Given the description of an element on the screen output the (x, y) to click on. 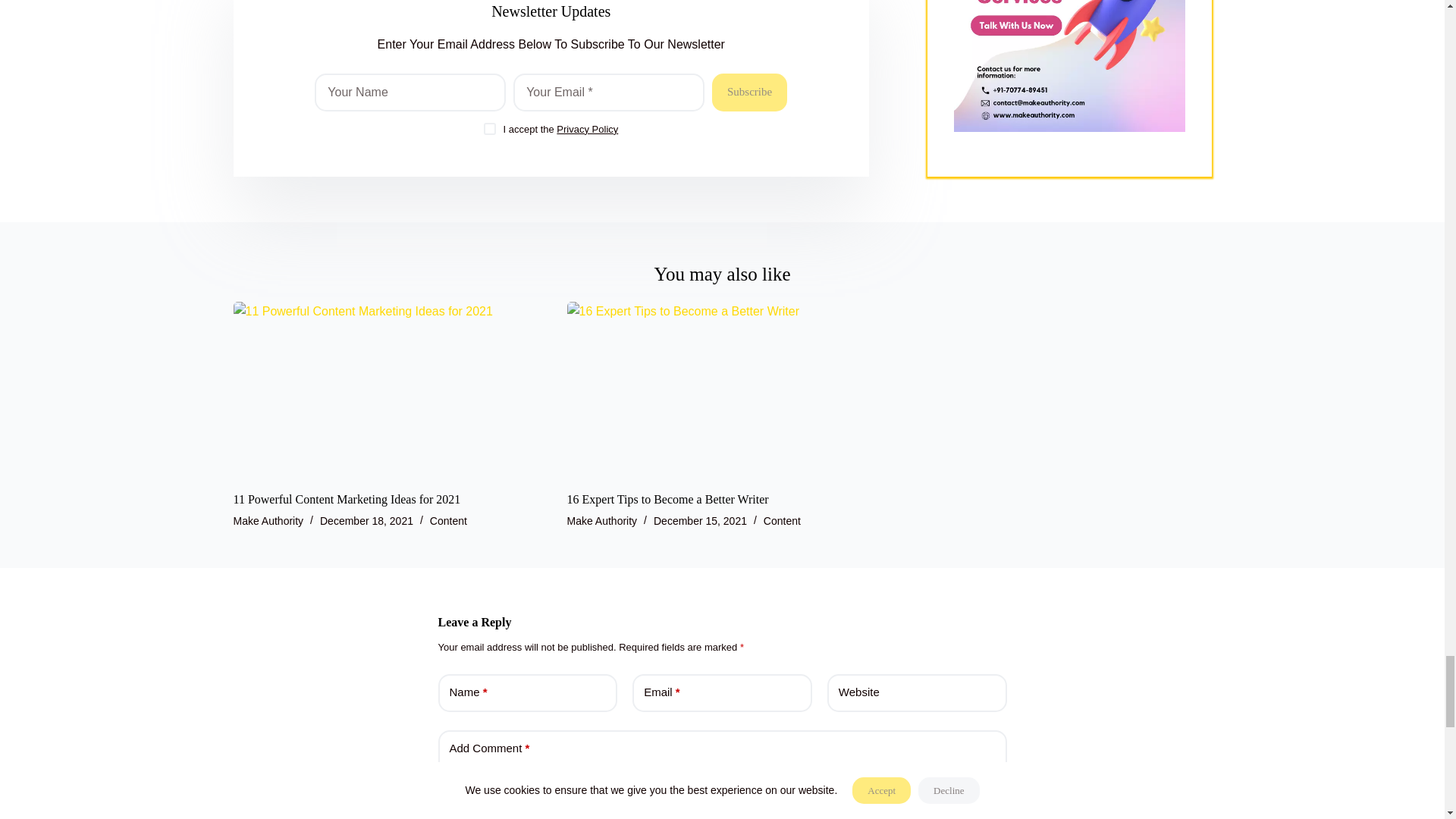
on (489, 128)
Posts by Make Authority (268, 521)
Posts by Make Authority (602, 521)
